Given the description of an element on the screen output the (x, y) to click on. 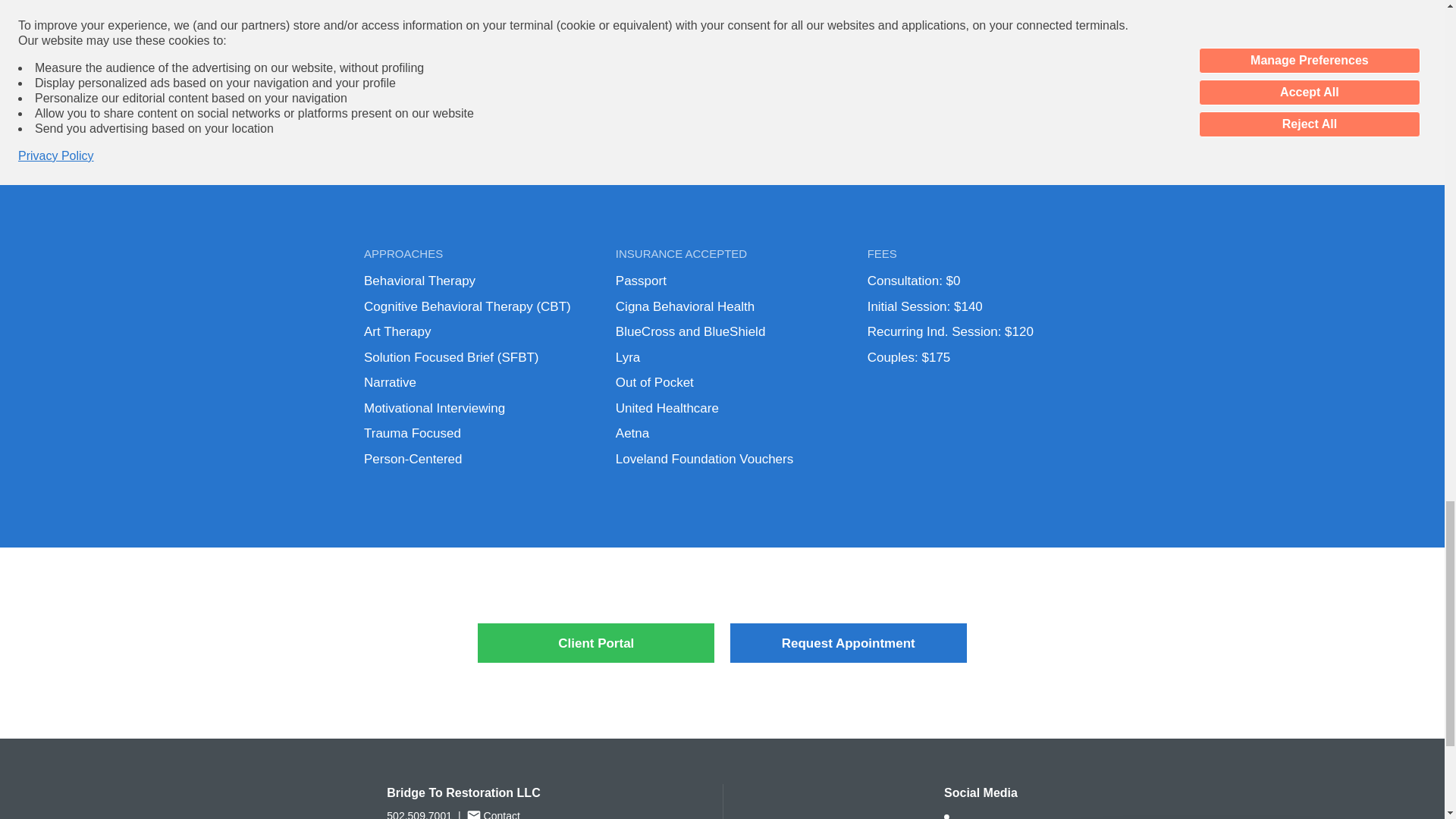
502.509.7001 (419, 814)
Contact (493, 813)
Client Portal (595, 642)
Request Appointment (848, 642)
